Given the description of an element on the screen output the (x, y) to click on. 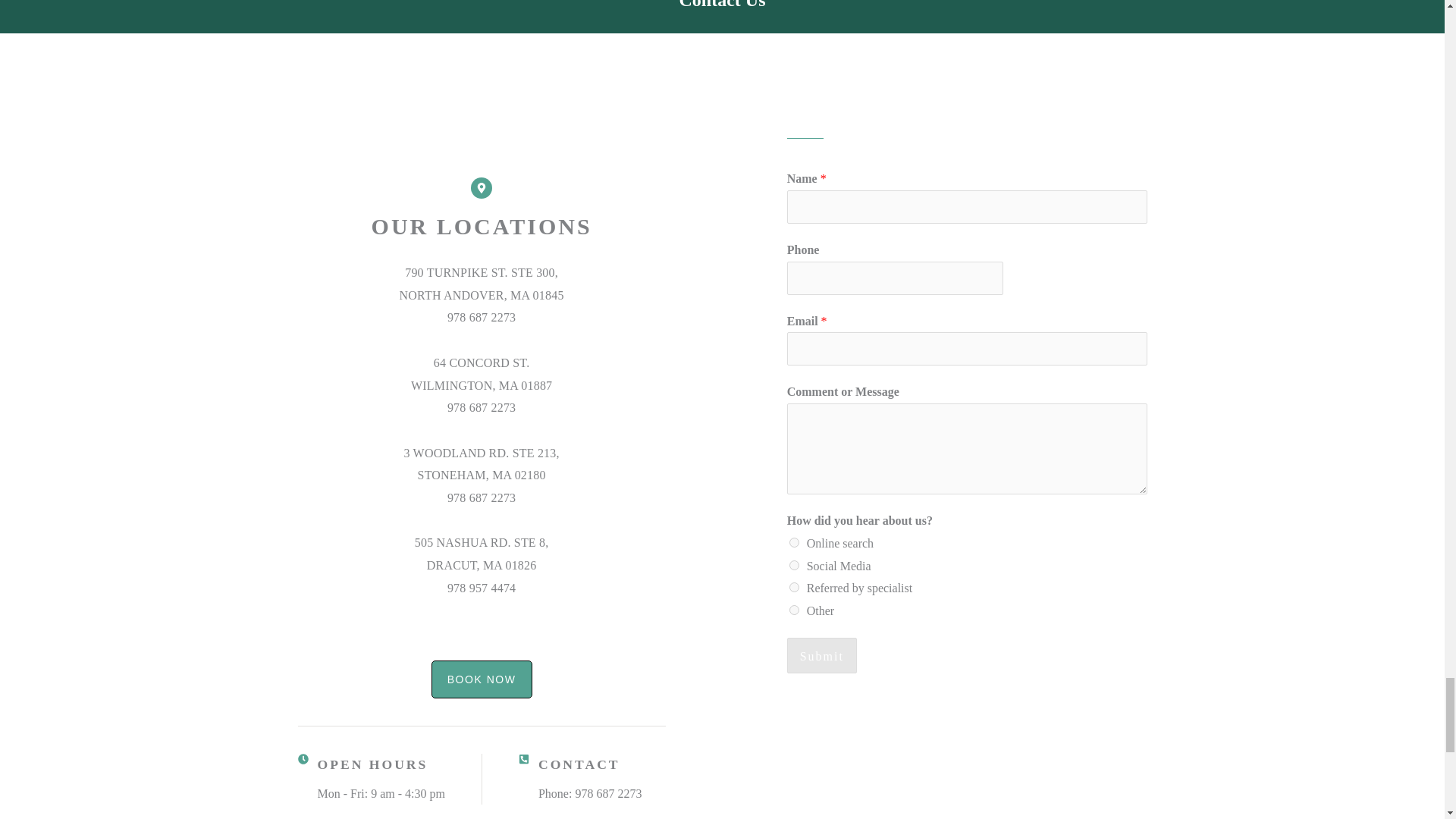
Referred by specialist (794, 587)
Online search (794, 542)
Social Media (794, 565)
Other (794, 610)
